Given the description of an element on the screen output the (x, y) to click on. 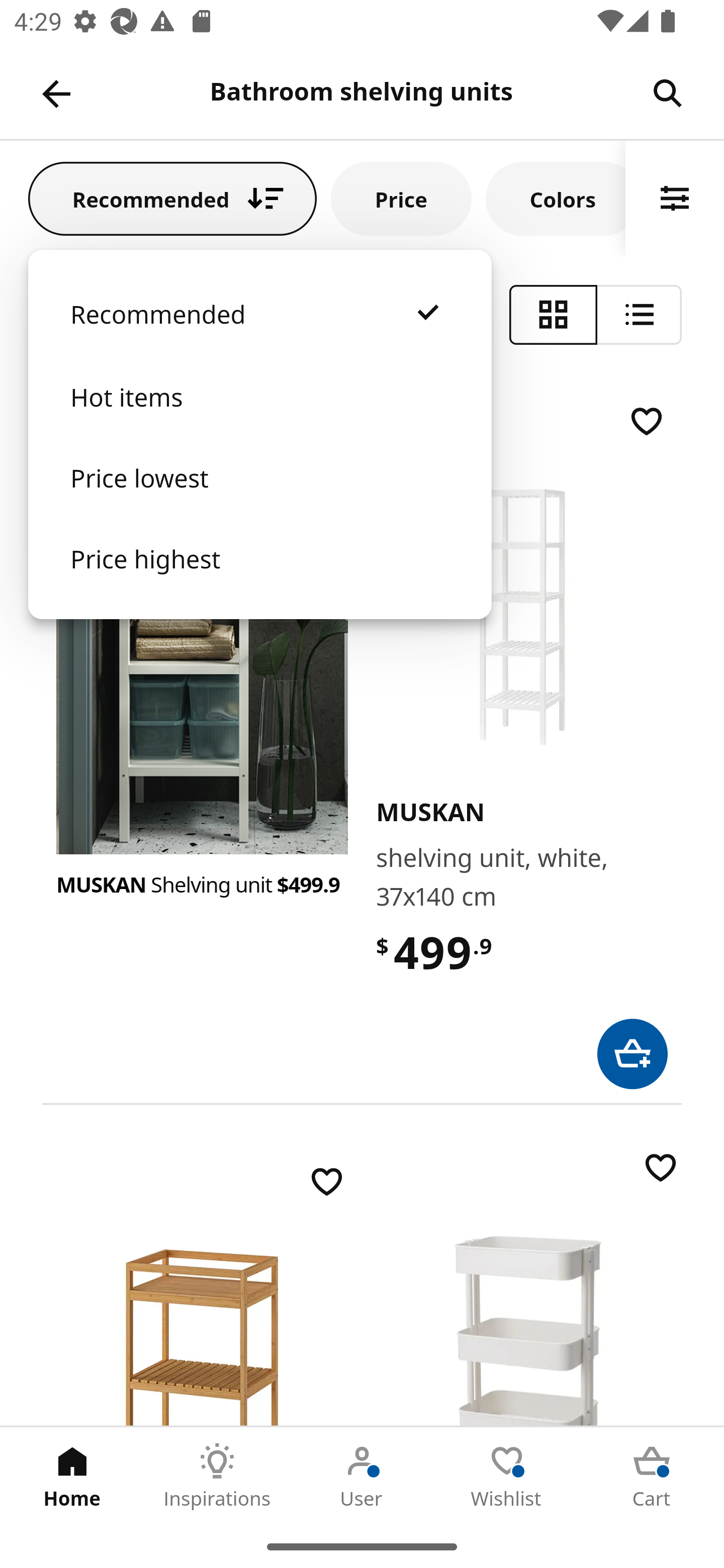
Recommended (172, 198)
Price (400, 198)
Colors (555, 198)
Recommended (259, 333)
Hot items (259, 416)
Price lowest (259, 497)
Price highest (259, 578)
MUSKAN Shelving unit $499.9 (202, 884)
Home
Tab 1 of 5 (72, 1476)
Inspirations
Tab 2 of 5 (216, 1476)
User
Tab 3 of 5 (361, 1476)
Wishlist
Tab 4 of 5 (506, 1476)
Cart
Tab 5 of 5 (651, 1476)
